Given the description of an element on the screen output the (x, y) to click on. 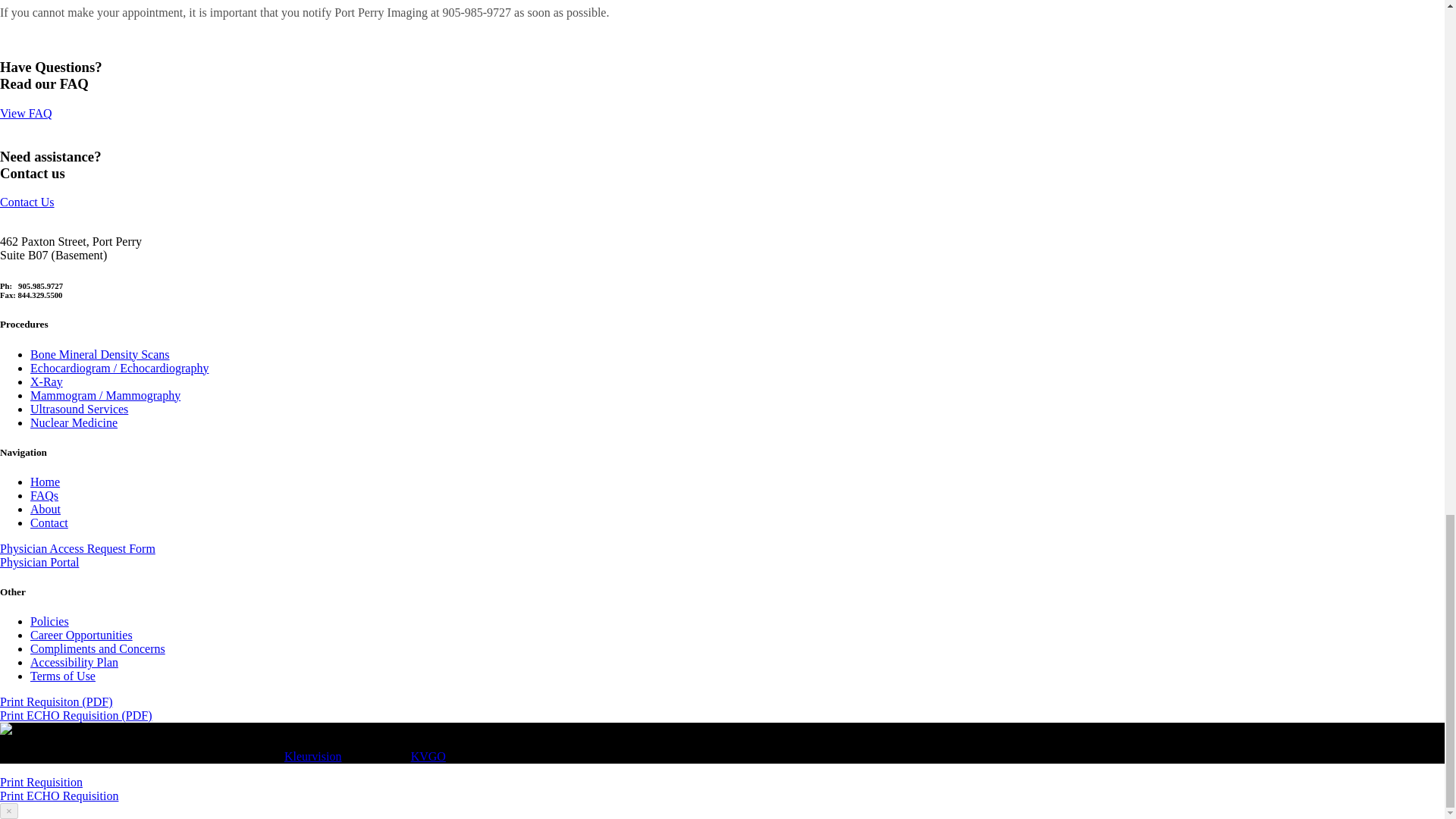
Home (44, 481)
No more DIY digital marketing by KVGO (427, 756)
No more DIY digital marketing by KVGO (5, 730)
Ultrasound Services (79, 408)
KVGO (427, 756)
Accessibility Plan (73, 662)
Terms of Use (63, 675)
About (45, 508)
Physician Portal (39, 562)
Nuclear Medicine (73, 422)
Kleurvision (312, 756)
Print Requisition (41, 781)
Career Opportunities (81, 634)
Policies (49, 621)
View FAQ (26, 113)
